Given the description of an element on the screen output the (x, y) to click on. 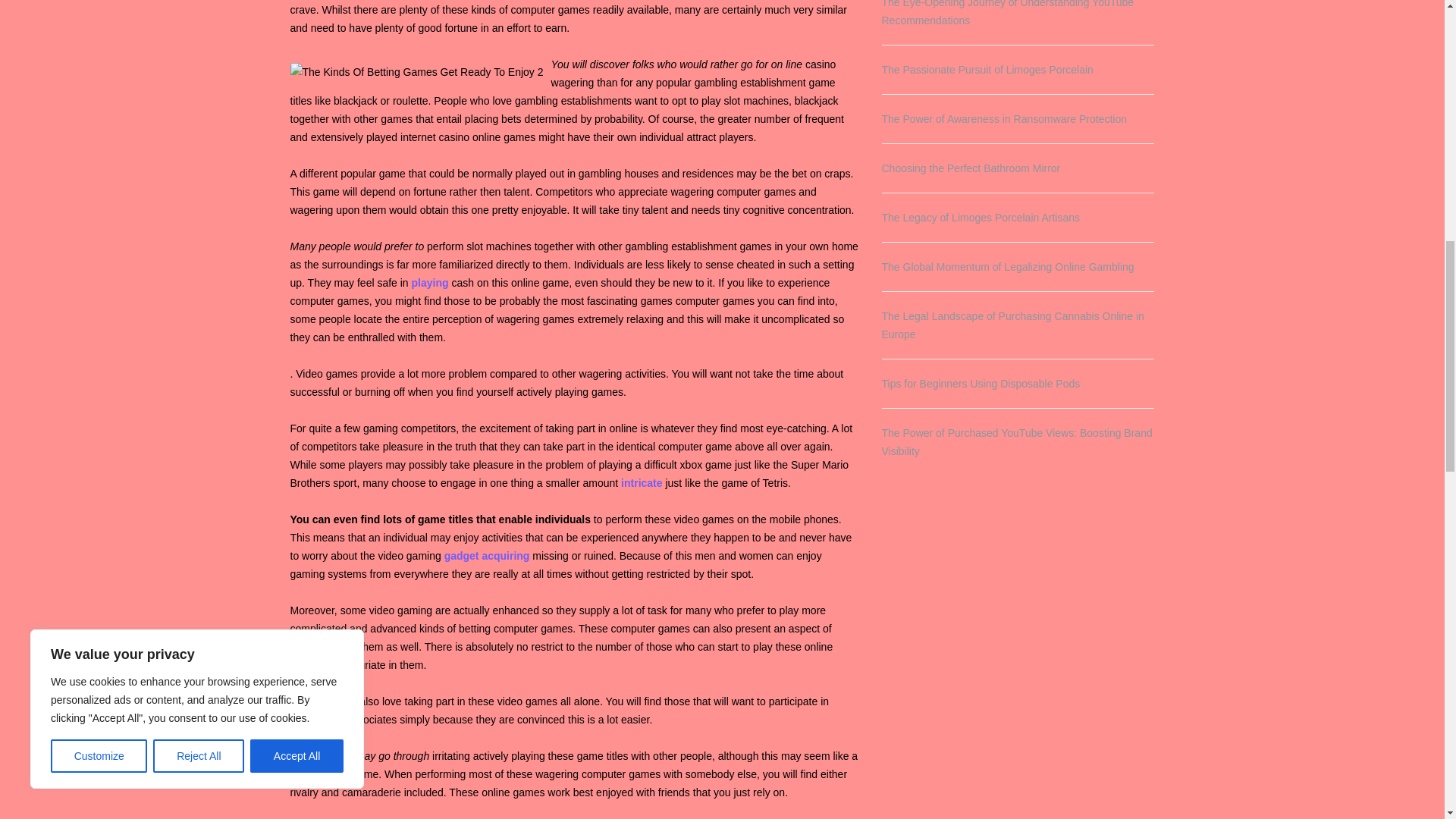
gadget acquiring (486, 555)
intricate (641, 482)
playing (430, 282)
